Given the description of an element on the screen output the (x, y) to click on. 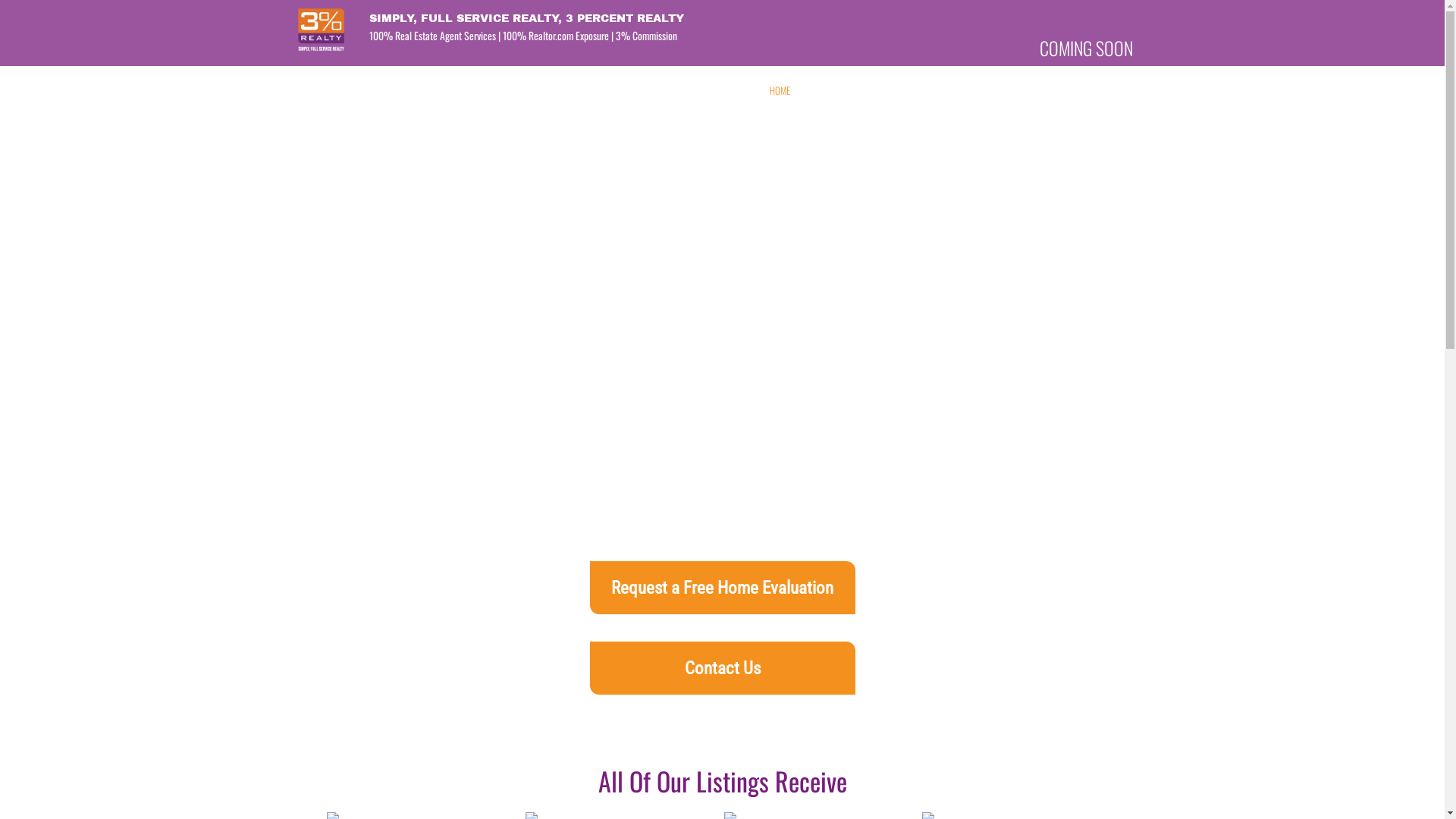
BUYING GUIDE Element type: text (1019, 90)
Request a Free Home Evaluation Element type: text (722, 587)
COMING SOON Element type: text (1085, 47)
ABOUT 3% REALTY Element type: text (894, 90)
ABOUT US Element type: text (824, 90)
Contact Us Element type: text (722, 667)
LISTINGS Element type: text (960, 90)
SELLING GUIDE Element type: text (1089, 90)
HOME Element type: text (779, 90)
